Given the description of an element on the screen output the (x, y) to click on. 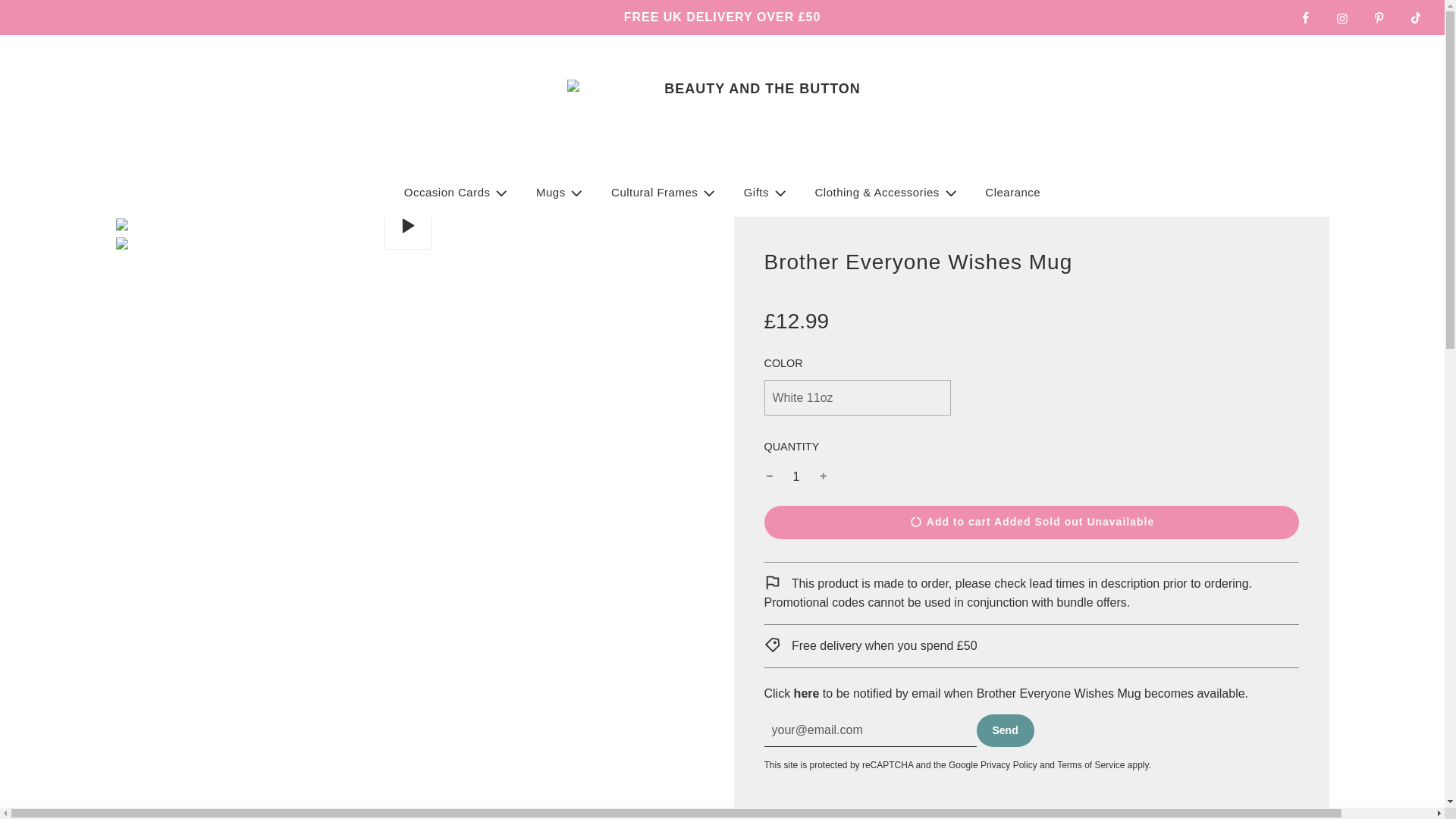
1 (796, 476)
Send (1004, 730)
